Given the description of an element on the screen output the (x, y) to click on. 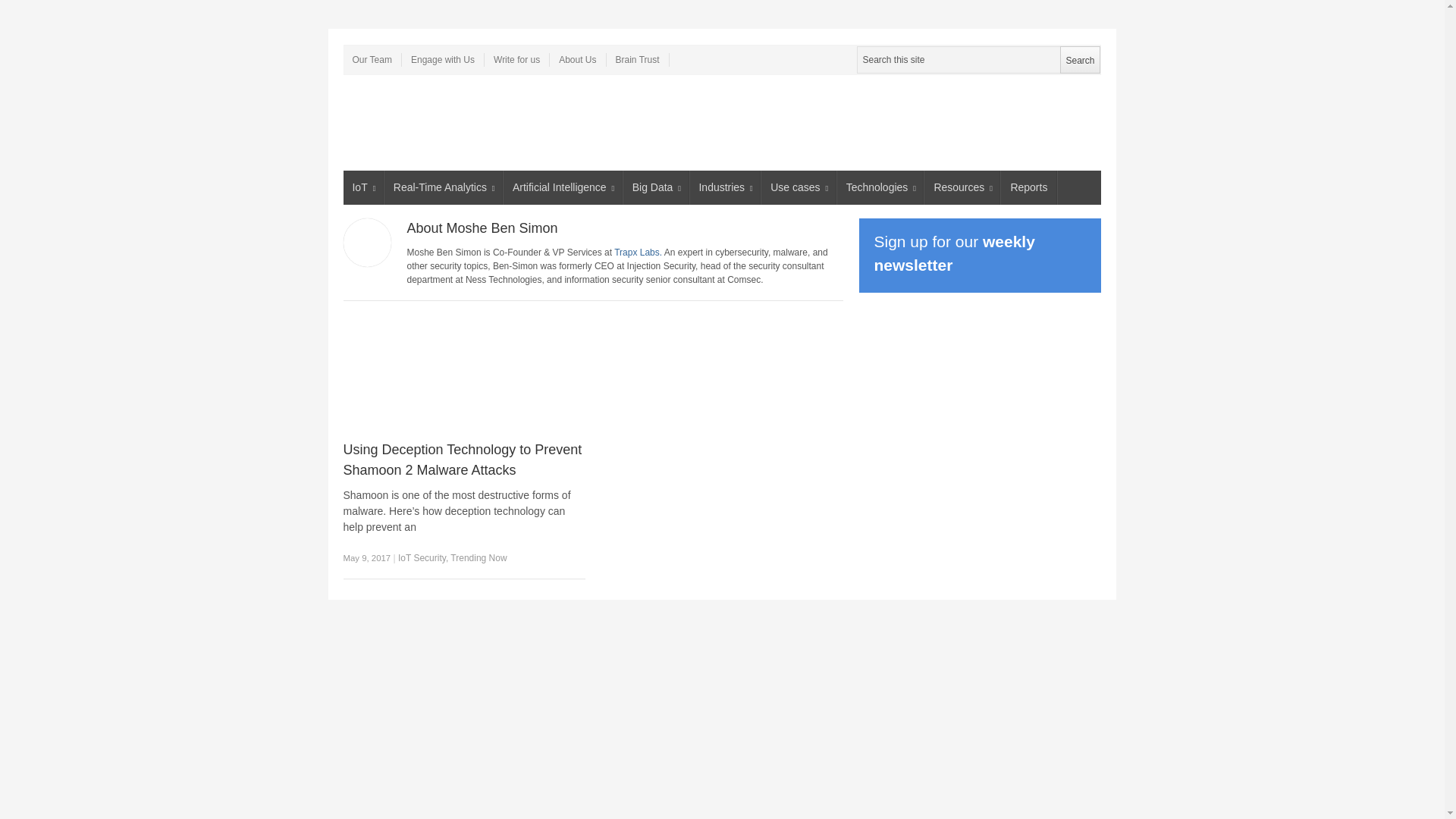
12:48 am (366, 557)
IoT (362, 187)
Search (1079, 59)
Big Data (655, 187)
Internet of Things (362, 187)
Artificial Intelligence (563, 187)
Industries (725, 187)
3rd party ad content (634, 122)
Engage with Us (442, 59)
